Given the description of an element on the screen output the (x, y) to click on. 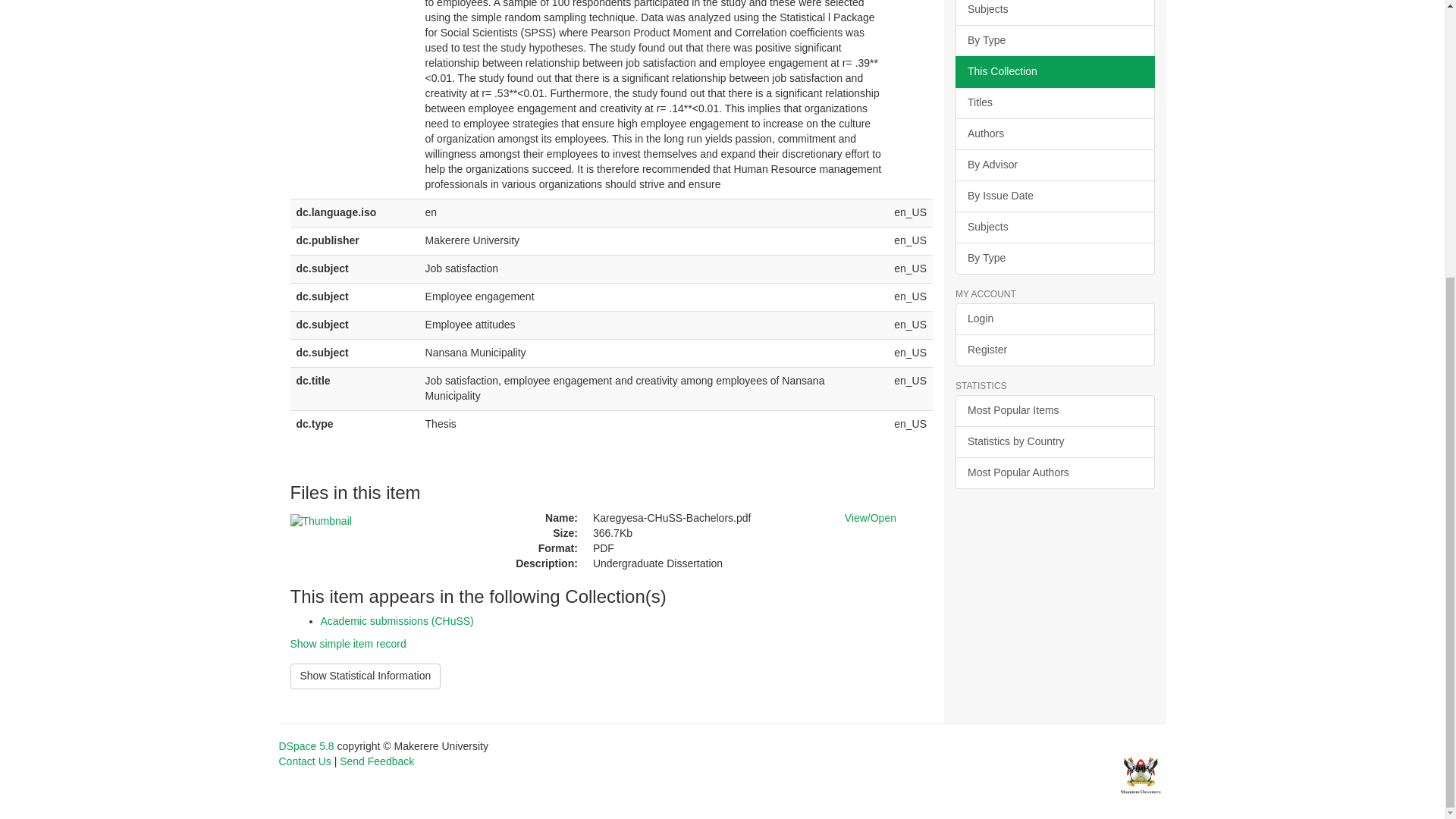
By Type (1054, 40)
By Advisor (1054, 164)
Subjects (1054, 12)
By Issue Date (1054, 196)
Atmire NV (1141, 774)
Undergraduate Dissertation (707, 563)
Subjects (1054, 227)
This Collection (1054, 71)
Titles (1054, 102)
Authors (1054, 133)
Show simple item record (347, 644)
Show Statistical Information (365, 676)
Karegyesa-CHuSS-Bachelors.pdf (707, 518)
